Given the description of an element on the screen output the (x, y) to click on. 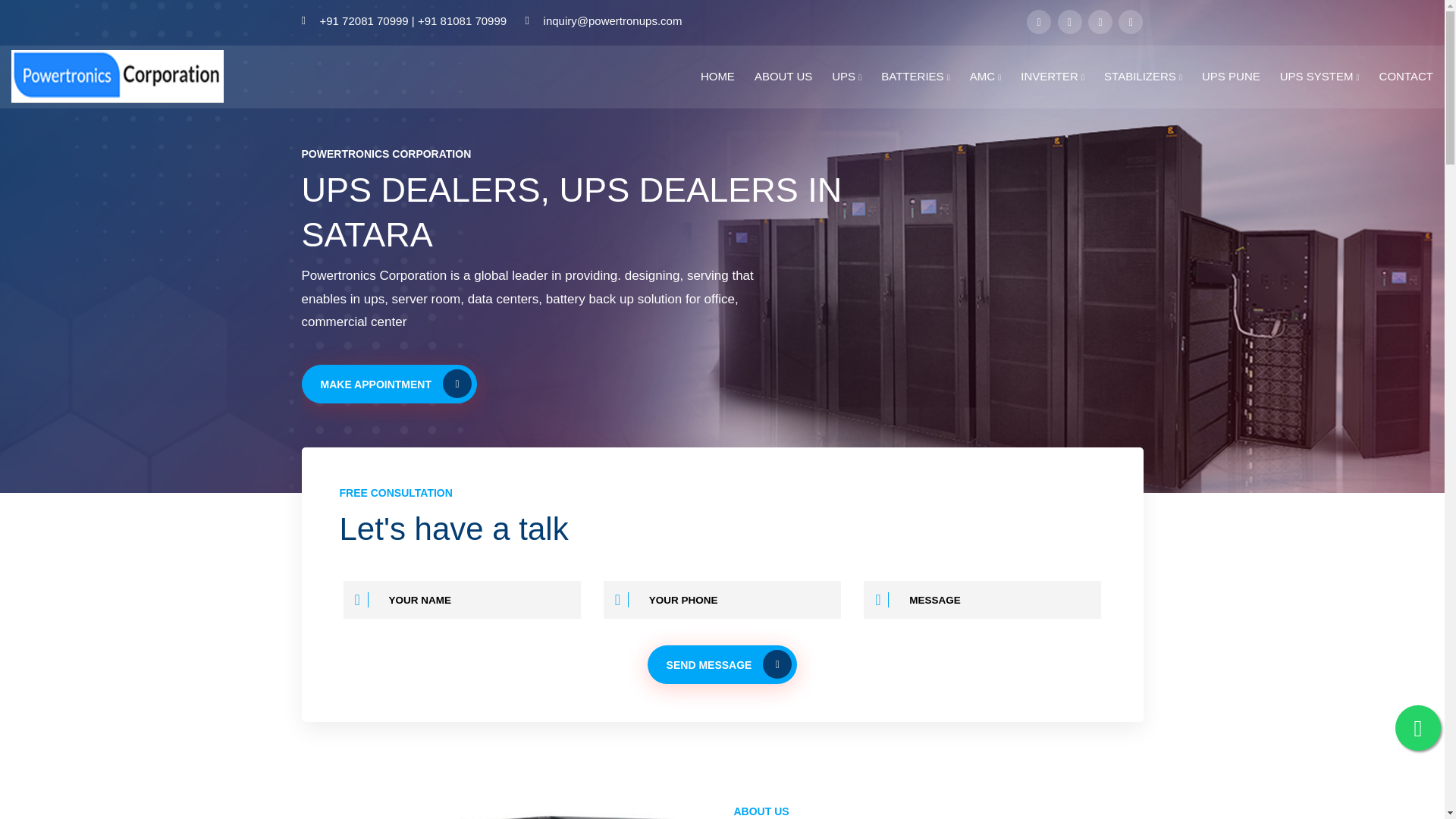
BATTERIES (914, 76)
UPS PUNE (1231, 76)
UPS SYSTEM (1319, 76)
ABOUT US (783, 76)
STABILIZERS (1142, 76)
INVERTER (1052, 76)
